Given the description of an element on the screen output the (x, y) to click on. 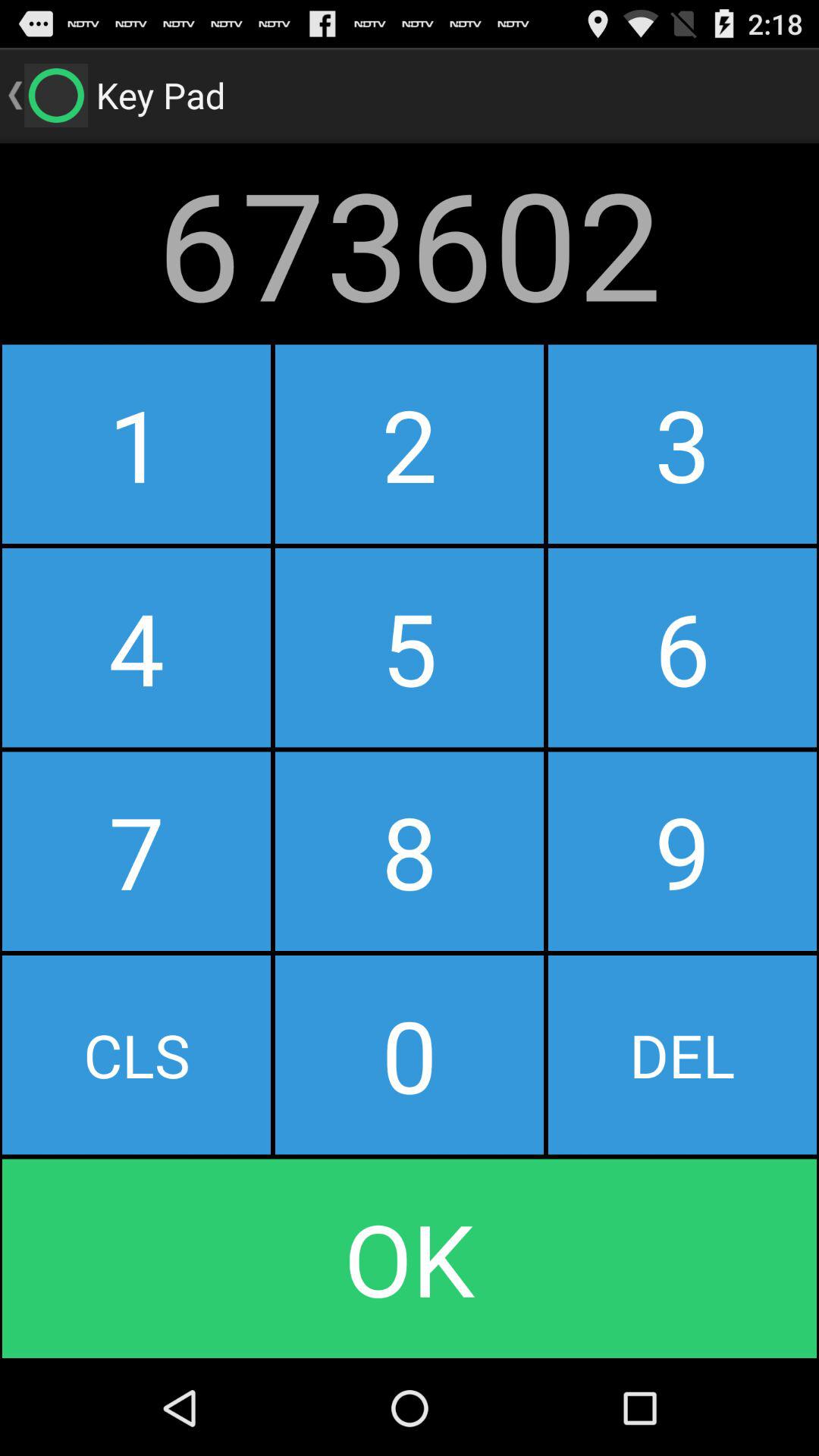
launch the 8 item (409, 850)
